Given the description of an element on the screen output the (x, y) to click on. 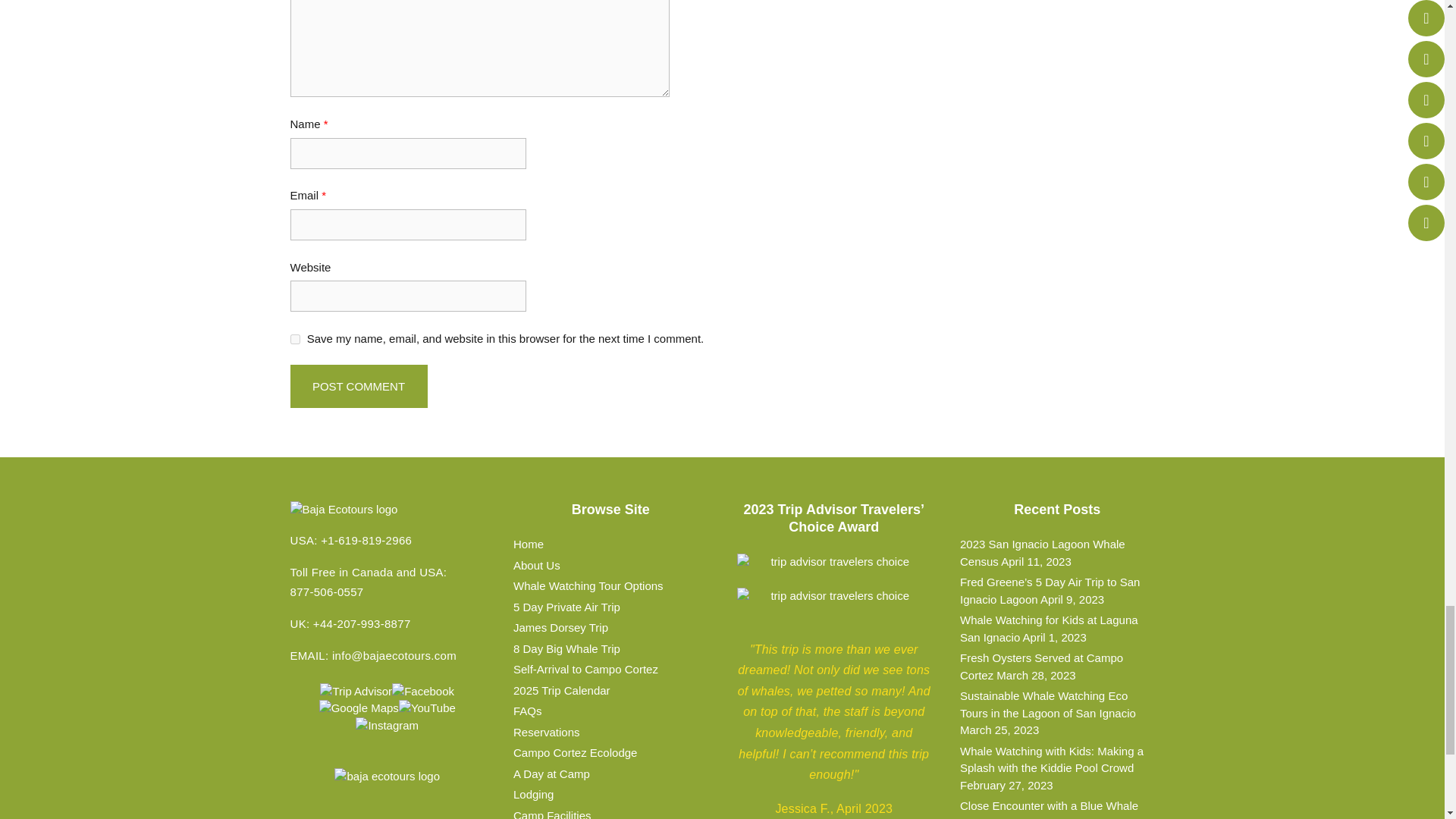
yes (294, 338)
Post Comment (357, 385)
